Given the description of an element on the screen output the (x, y) to click on. 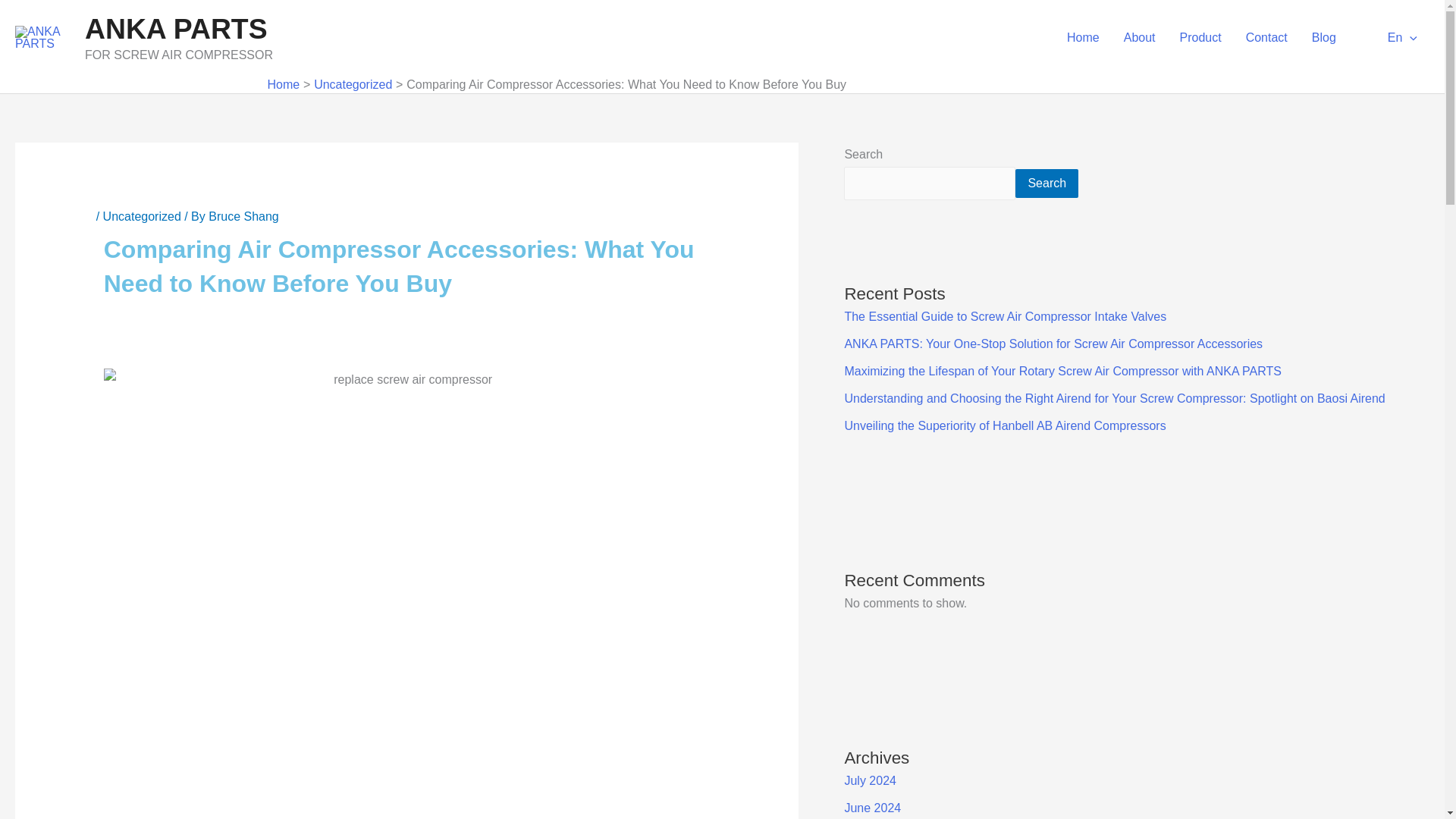
About (1139, 37)
En (1388, 37)
ANKA PARTS (175, 29)
Bruce Shang (243, 215)
Uncategorized (141, 215)
Blog (1324, 37)
Home (282, 83)
Product (1200, 37)
Uncategorized (352, 83)
